Given the description of an element on the screen output the (x, y) to click on. 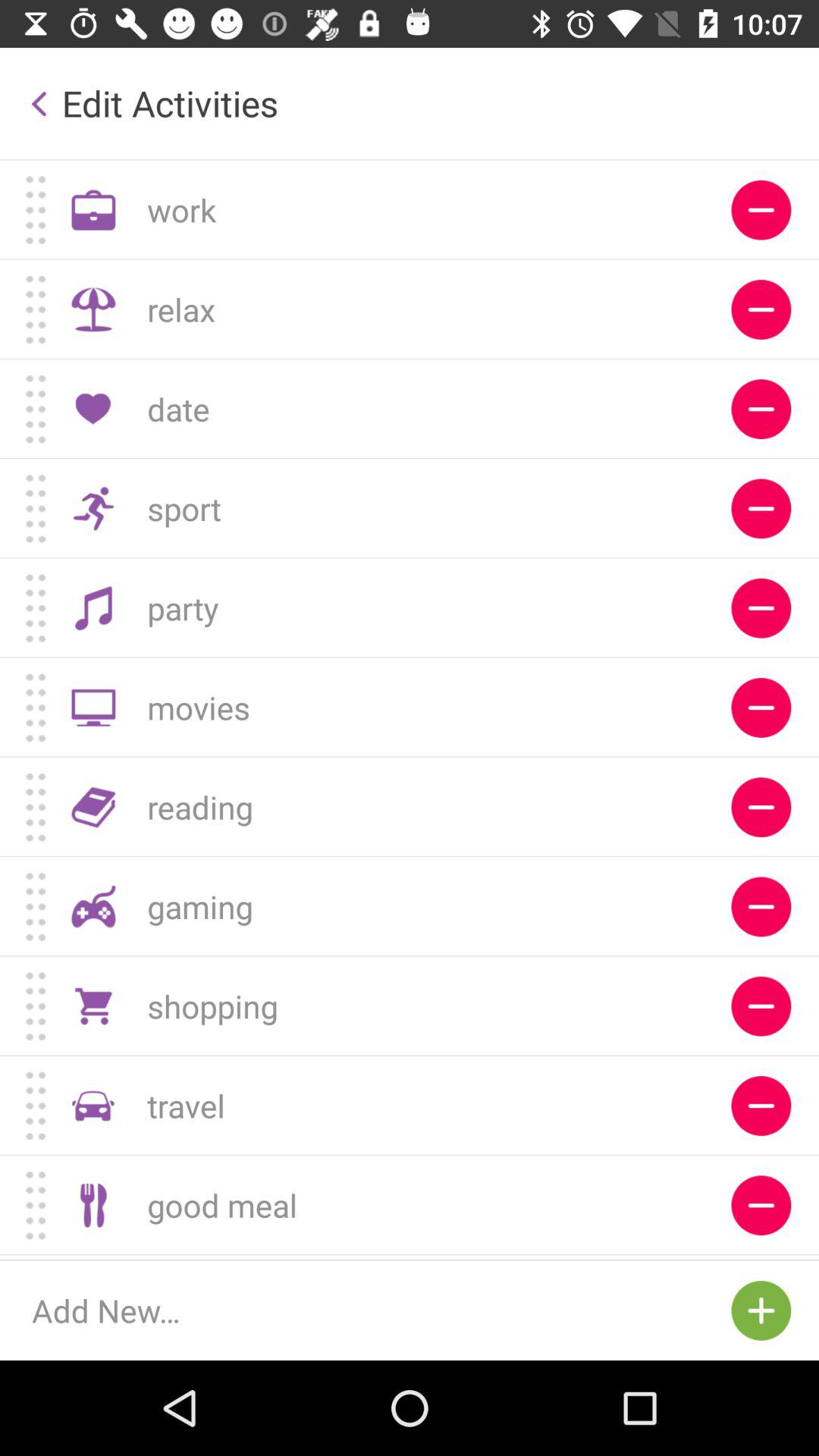
click on the button which is left side of the edit activities (38, 103)
click on plus icon (761, 1309)
click on eight  symbol from top (761, 906)
click on the sixth  symbol from top (761, 707)
click on the red colored button right to relax (761, 309)
click on edit button which is next to good meal (761, 1205)
click on the red circle button which is next to date (761, 408)
select the icon which is left side of the relax (93, 309)
select the icon which is left side of the gaming (93, 906)
